Given the description of an element on the screen output the (x, y) to click on. 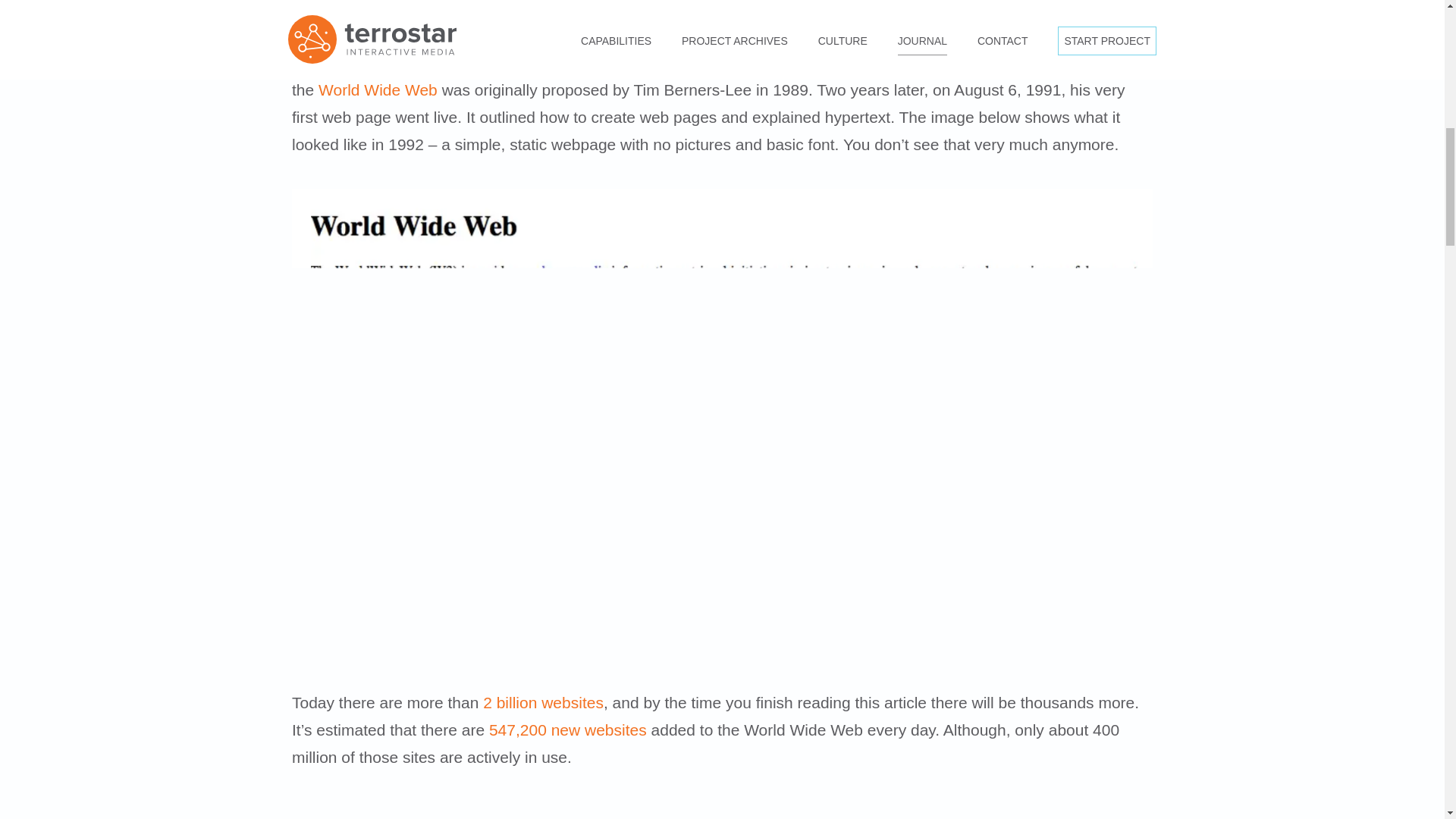
2 billion websites (543, 702)
547,200 new websites (567, 729)
World Wide Web (378, 89)
